Given the description of an element on the screen output the (x, y) to click on. 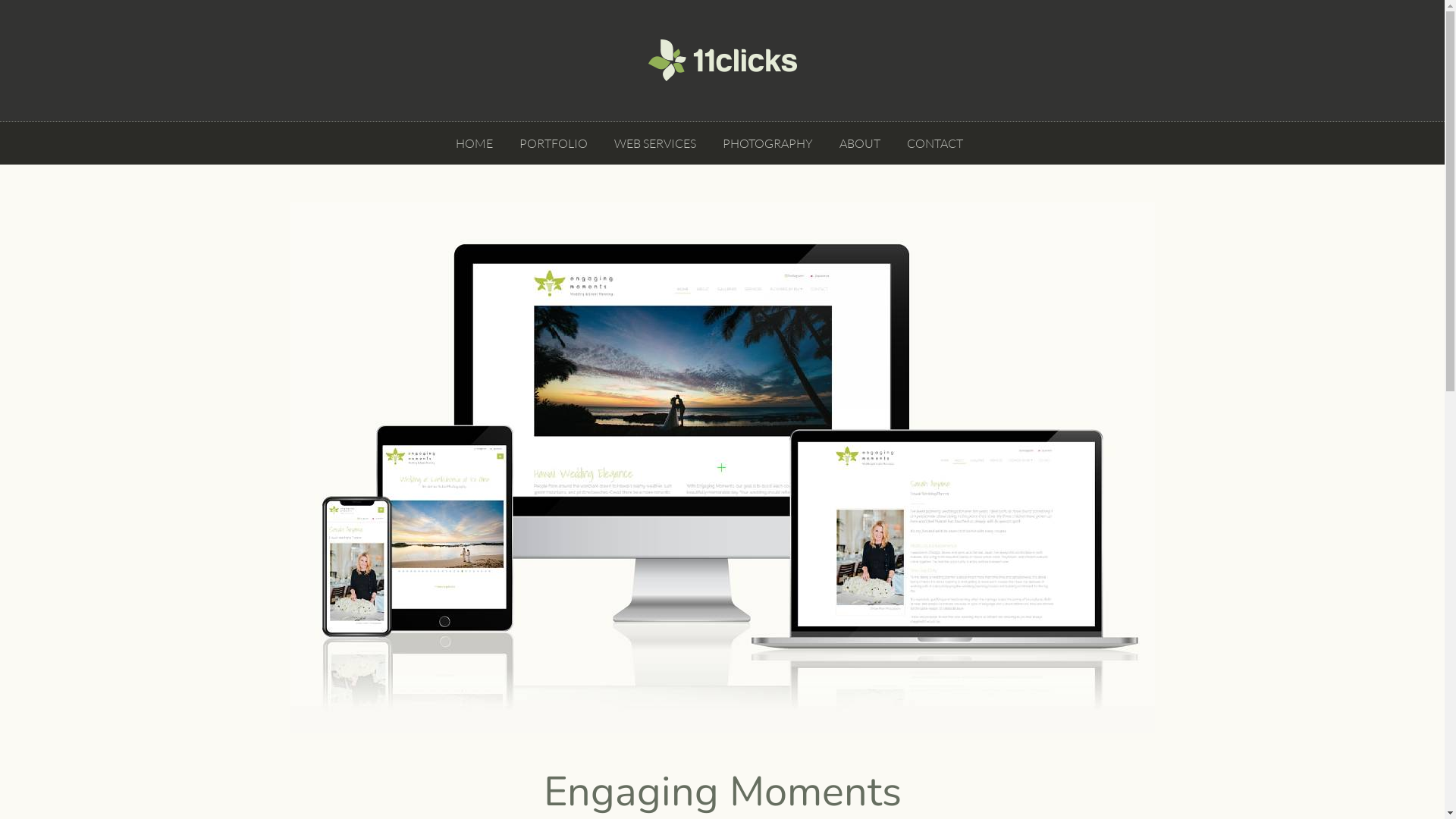
ABOUT Element type: text (859, 143)
PORTFOLIO Element type: text (553, 143)
PHOTOGRAPHY Element type: text (767, 143)
CONTACT Element type: text (934, 143)
WEB SERVICES Element type: text (654, 143)
HOME Element type: text (473, 143)
